Given the description of an element on the screen output the (x, y) to click on. 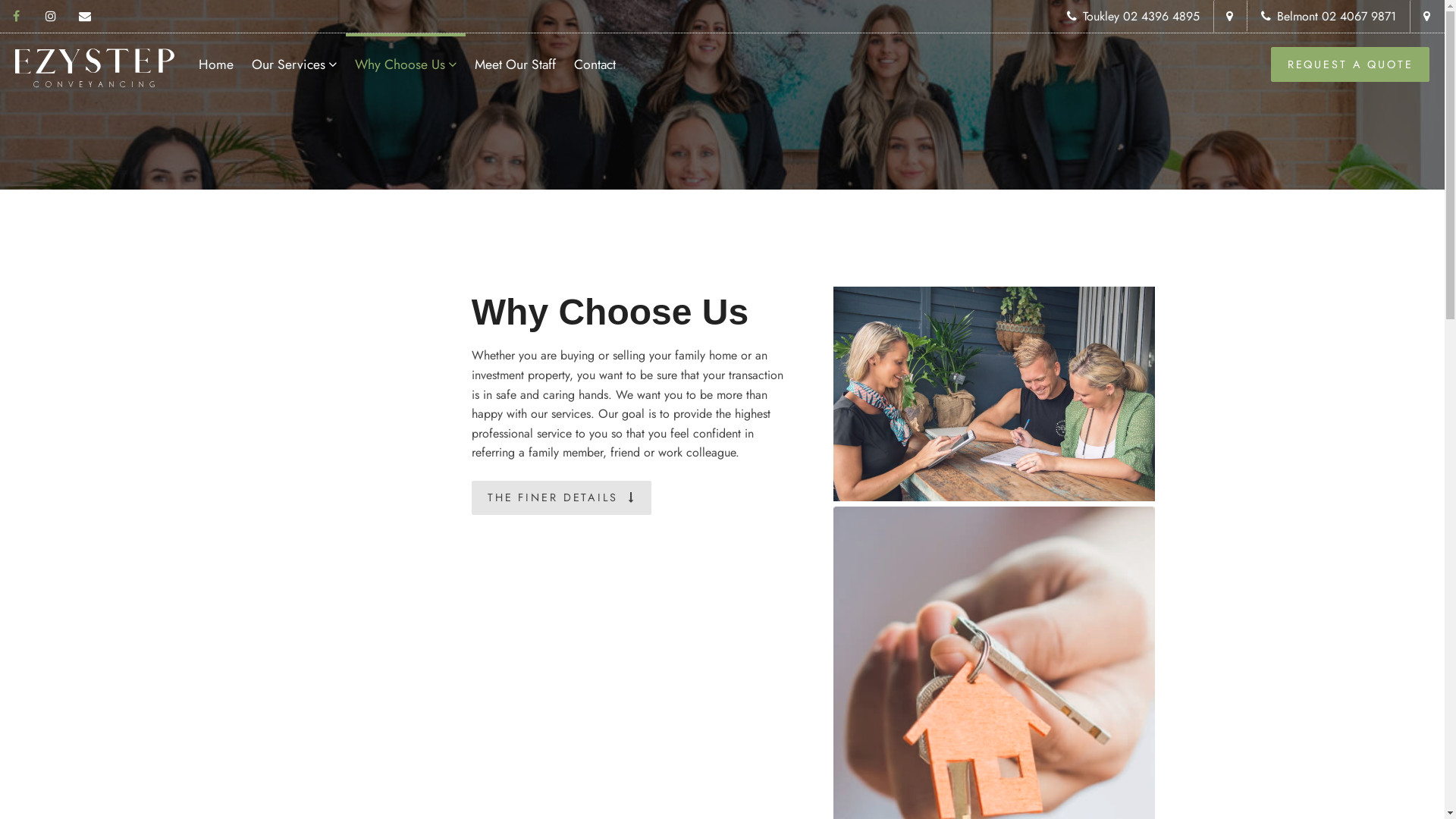
REQUEST A QUOTE Element type: text (1349, 64)
Contact Element type: text (594, 57)
Home Element type: text (215, 57)
Our Services Element type: text (293, 57)
Meet Our Staff Element type: text (514, 57)
Why Choose Us Element type: text (405, 57)
